Given the description of an element on the screen output the (x, y) to click on. 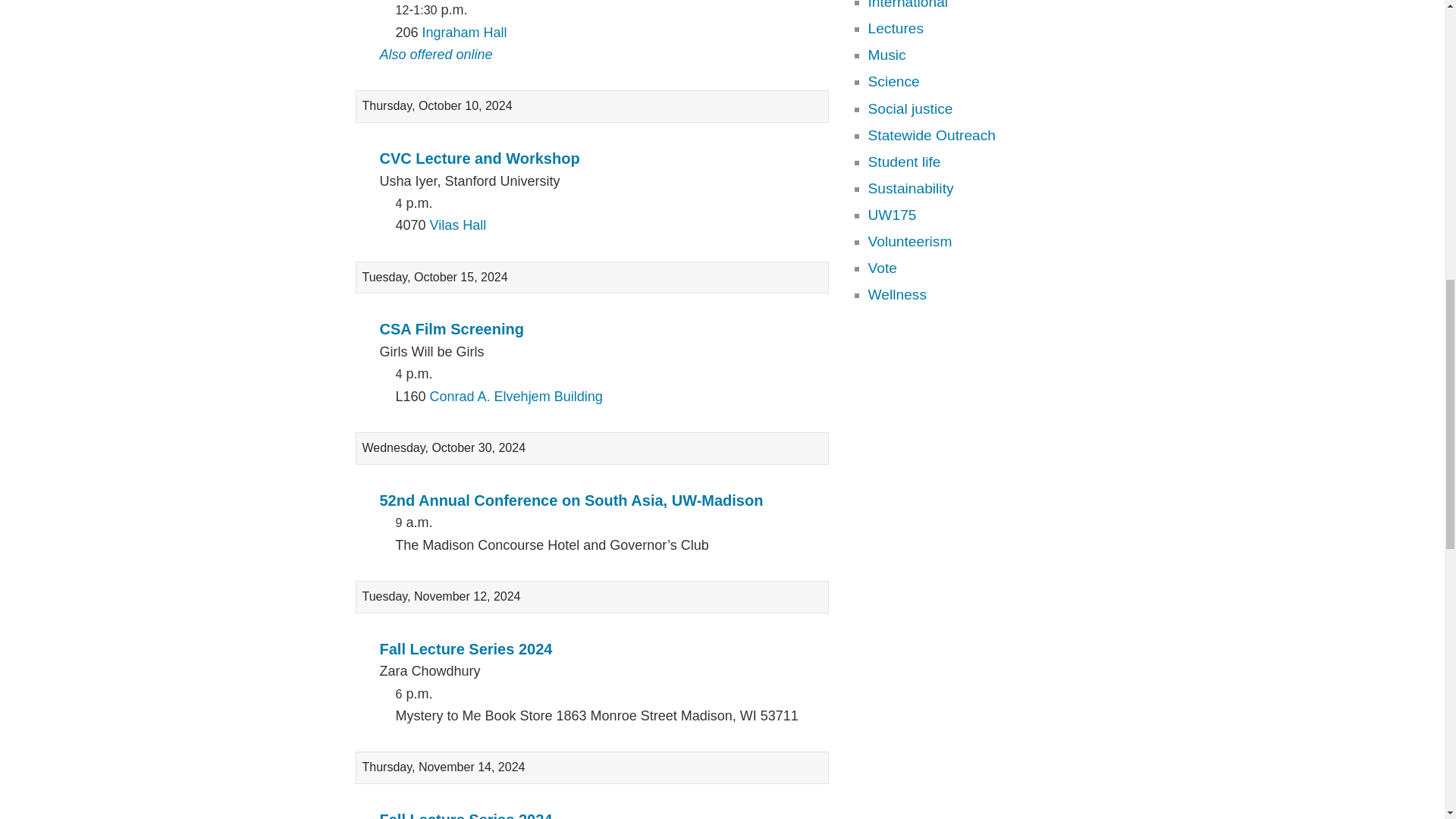
CVC Lecture and Workshop (478, 158)
52nd Annual Conference on South Asia, UW-Madison (570, 500)
Fall Lecture Series 2024 (464, 815)
Also offered online (435, 54)
Thursday, November 14, 2024 (592, 766)
Vilas Hall (457, 224)
Conrad A. Elvehjem Building (515, 396)
Thursday, October 10, 2024 (592, 106)
Wednesday, October 30, 2024 (592, 448)
Tuesday, November 12, 2024 (592, 596)
